Given the description of an element on the screen output the (x, y) to click on. 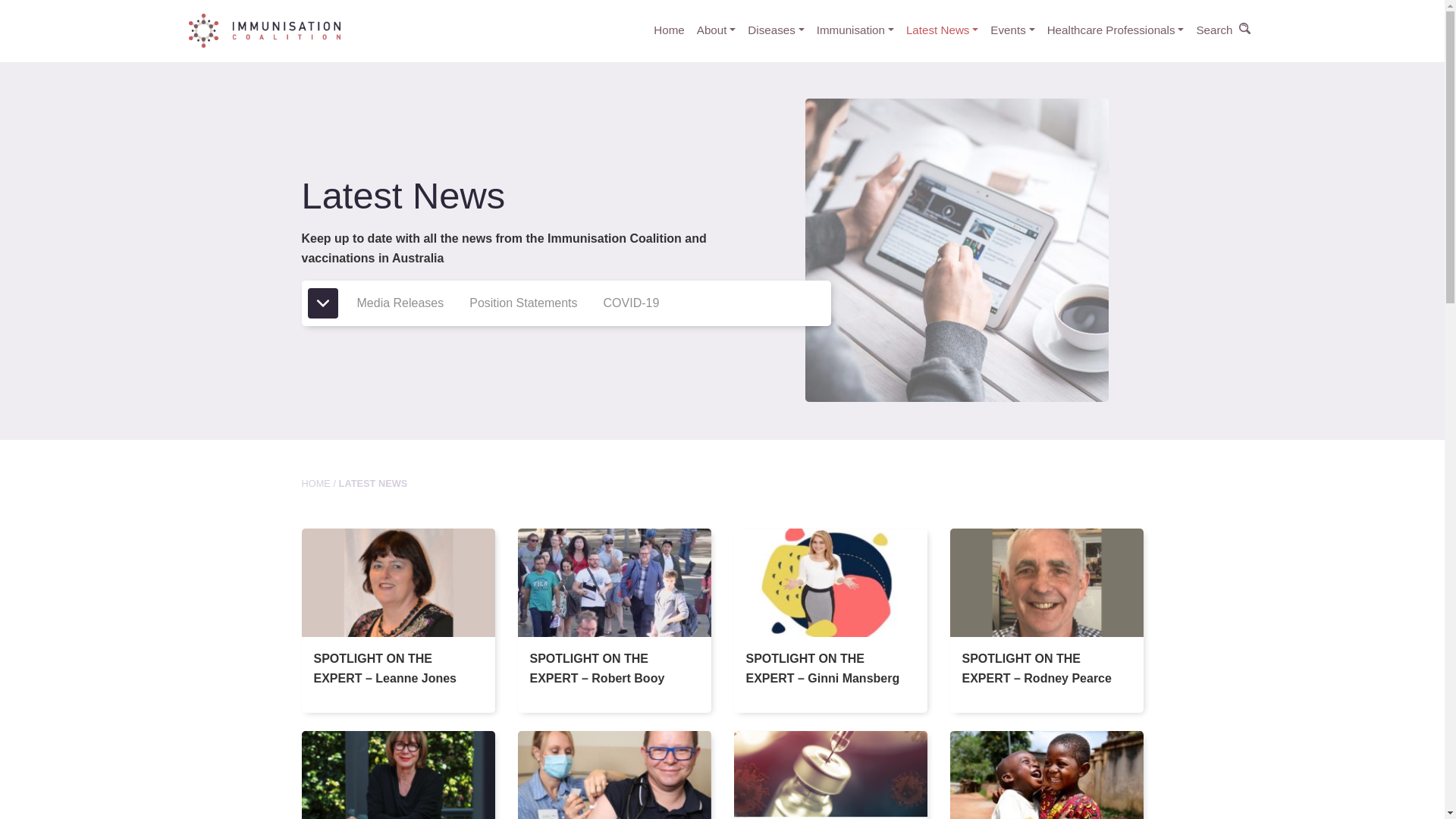
About (716, 30)
Immunisation (854, 30)
Diseases (775, 30)
Home (668, 30)
About (716, 30)
Latest News (941, 30)
Diseases (775, 30)
Home (668, 30)
